Given the description of an element on the screen output the (x, y) to click on. 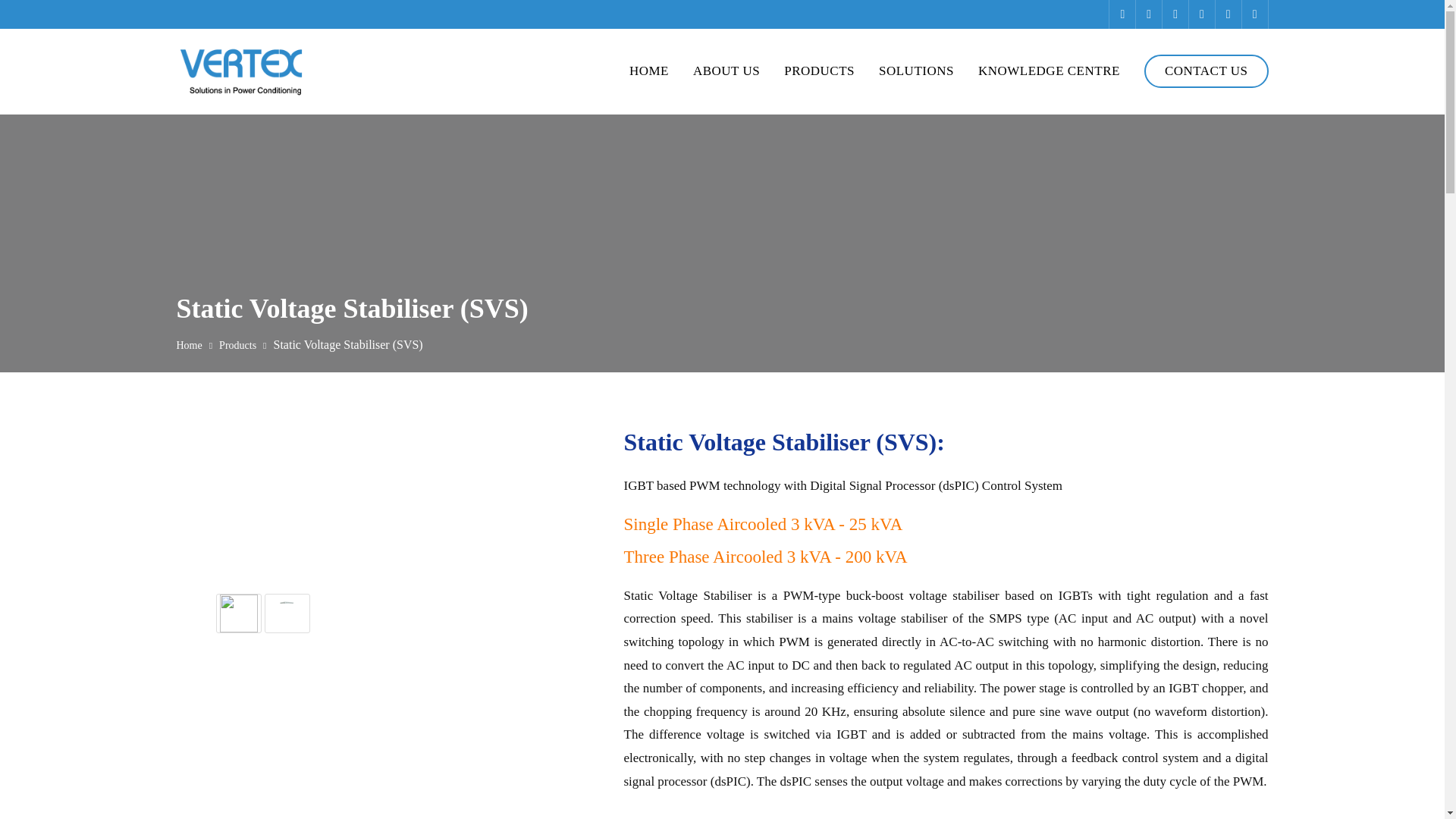
SOLUTIONS (916, 70)
Home (648, 70)
Products (819, 70)
PRODUCTS (819, 70)
About Us (726, 70)
Solutions (916, 70)
Knowledge Centre (1048, 70)
CONTACT US (1206, 70)
ABOUT US (726, 70)
KNOWLEDGE CENTRE (1048, 70)
Contact Us (1206, 70)
HOME (648, 70)
